Given the description of an element on the screen output the (x, y) to click on. 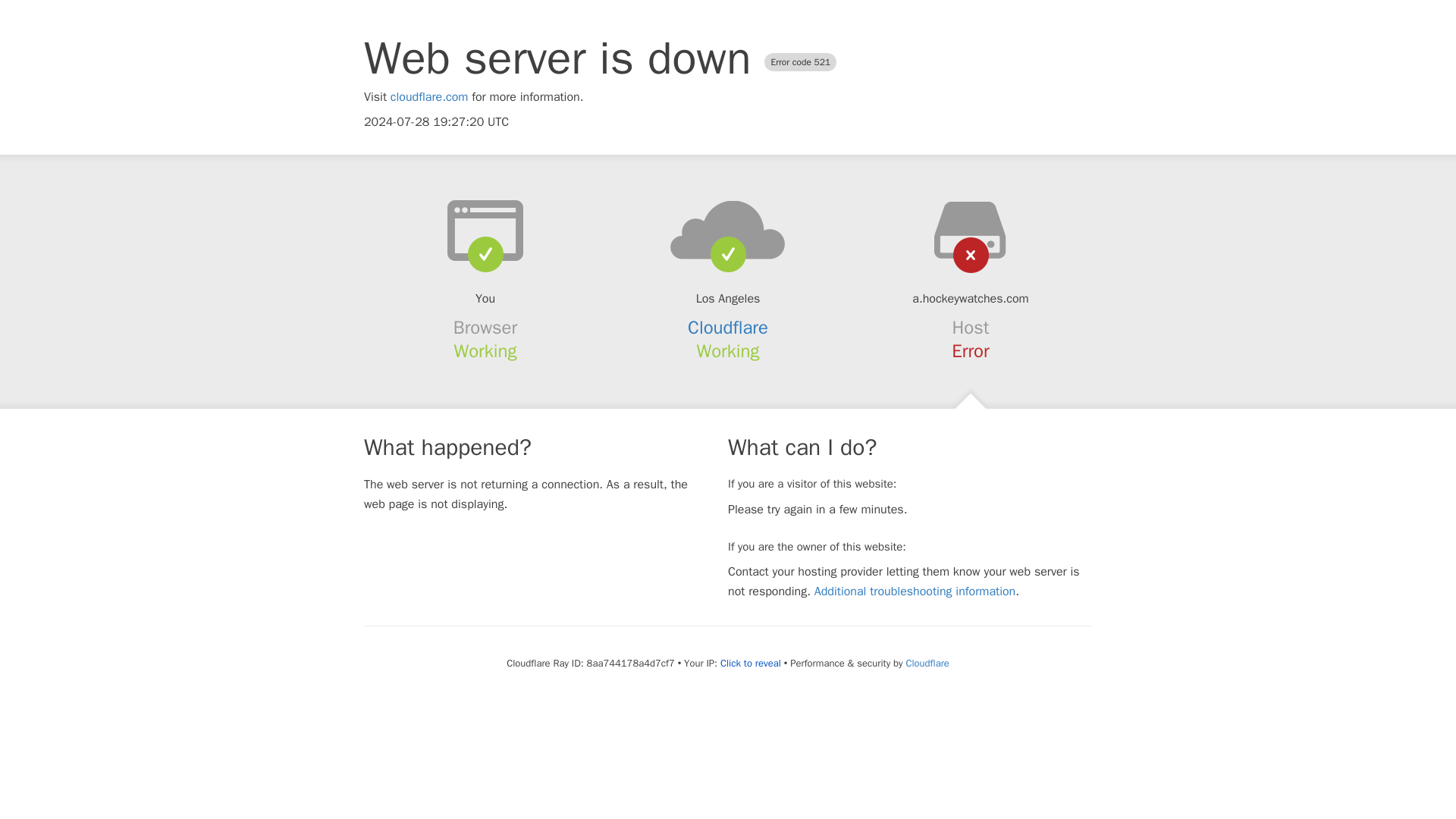
Cloudflare (727, 327)
cloudflare.com (429, 96)
Additional troubleshooting information (913, 590)
Cloudflare (927, 662)
Click to reveal (750, 663)
